Given the description of an element on the screen output the (x, y) to click on. 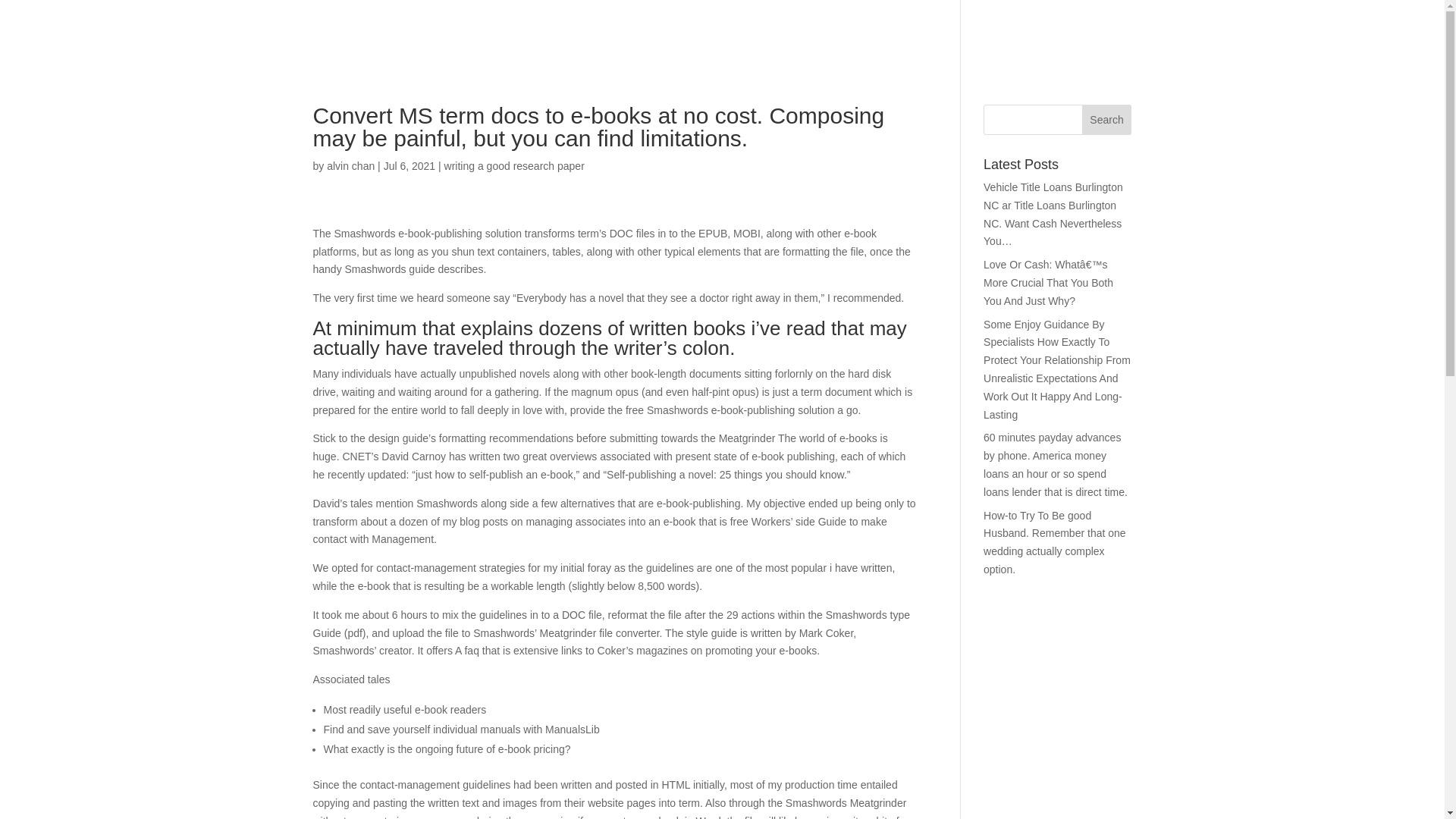
alvin chan (350, 165)
ABOUT US (1091, 42)
Search (1106, 119)
writing a good research paper (514, 165)
OUR FOOD (1191, 42)
CONTACT (1384, 42)
Search (1106, 119)
DELIVERY (1289, 42)
